Given the description of an element on the screen output the (x, y) to click on. 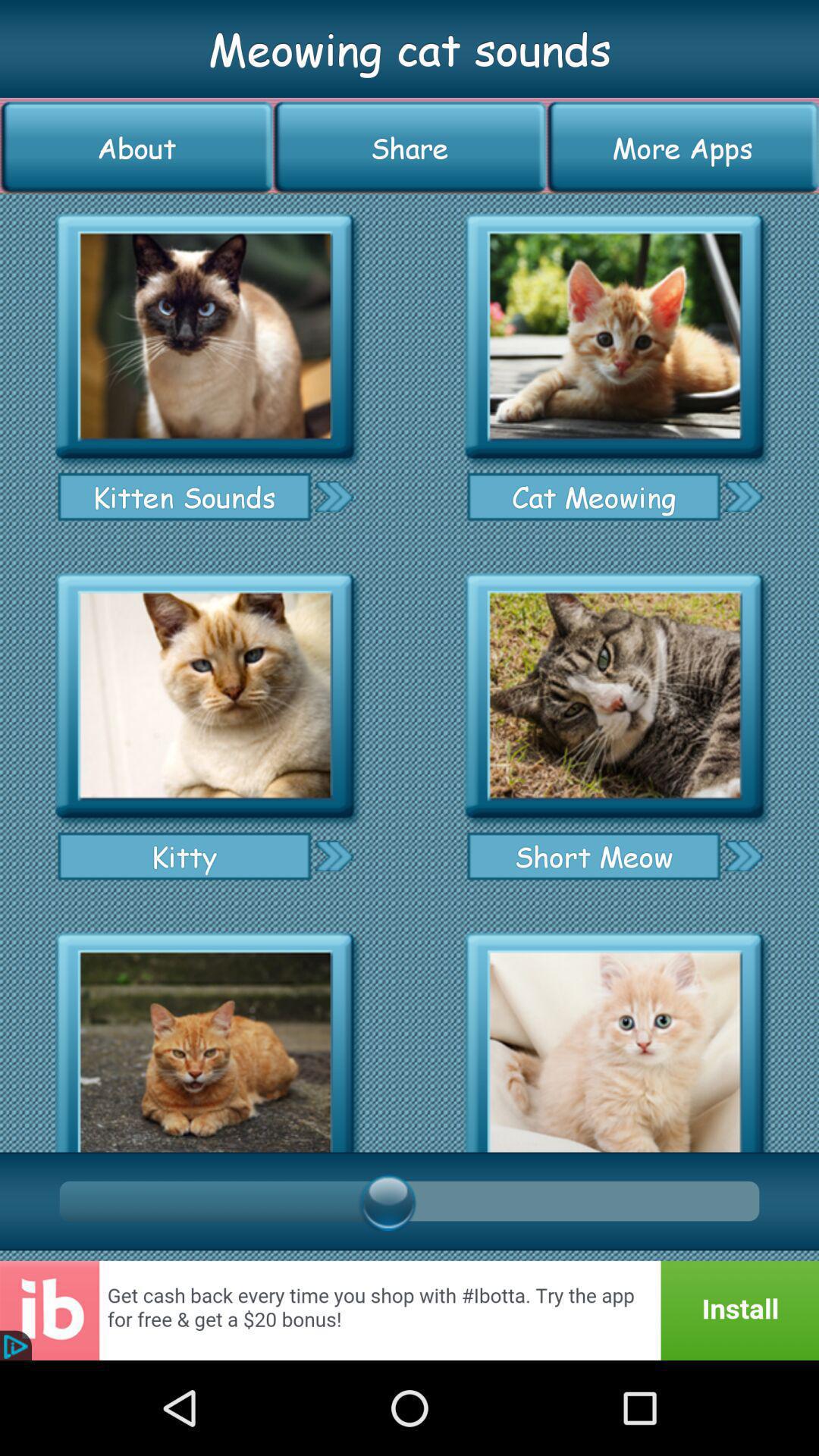
turn on the button to the right of the share icon (682, 147)
